Given the description of an element on the screen output the (x, y) to click on. 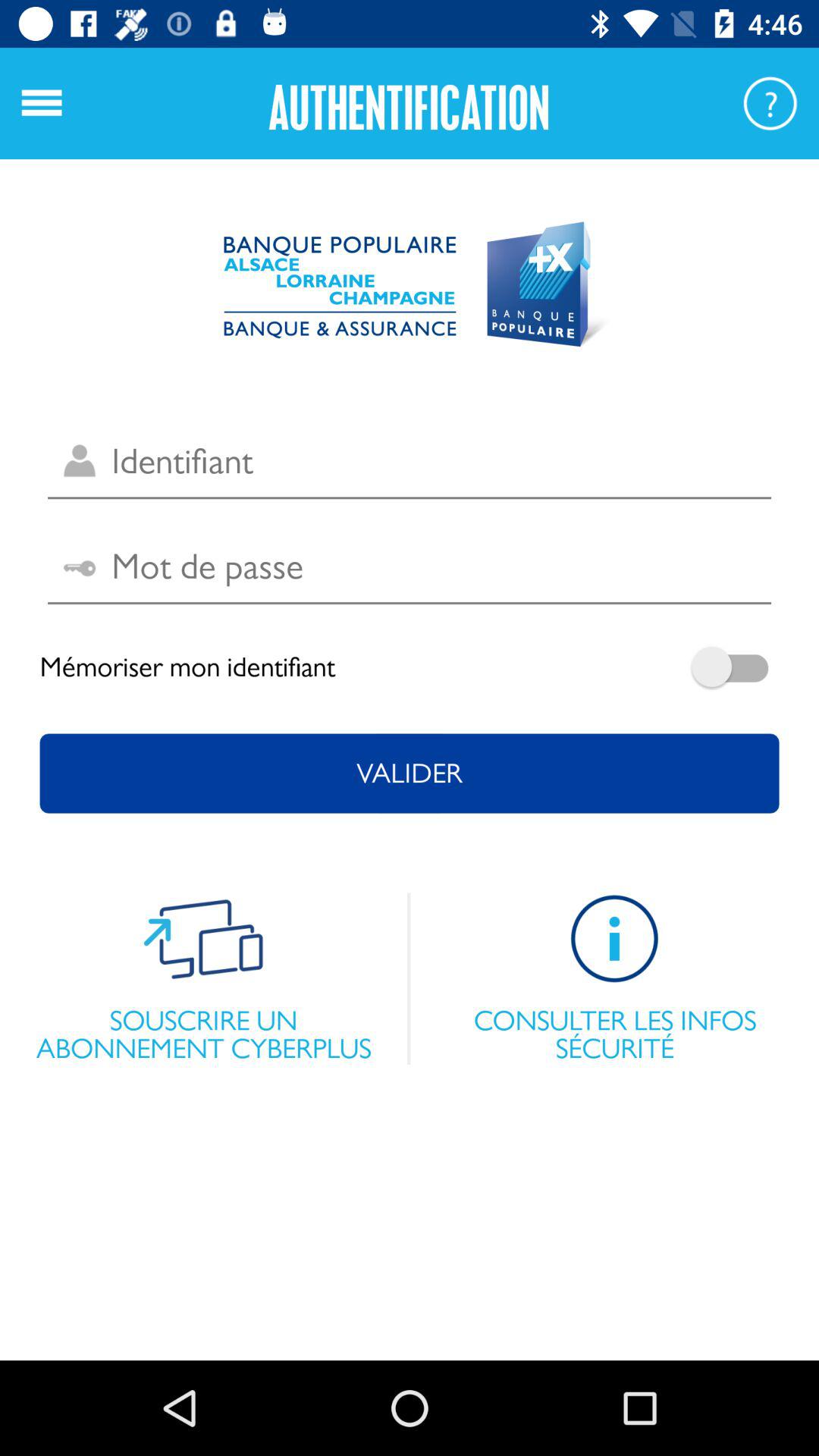
password entry (409, 566)
